Given the description of an element on the screen output the (x, y) to click on. 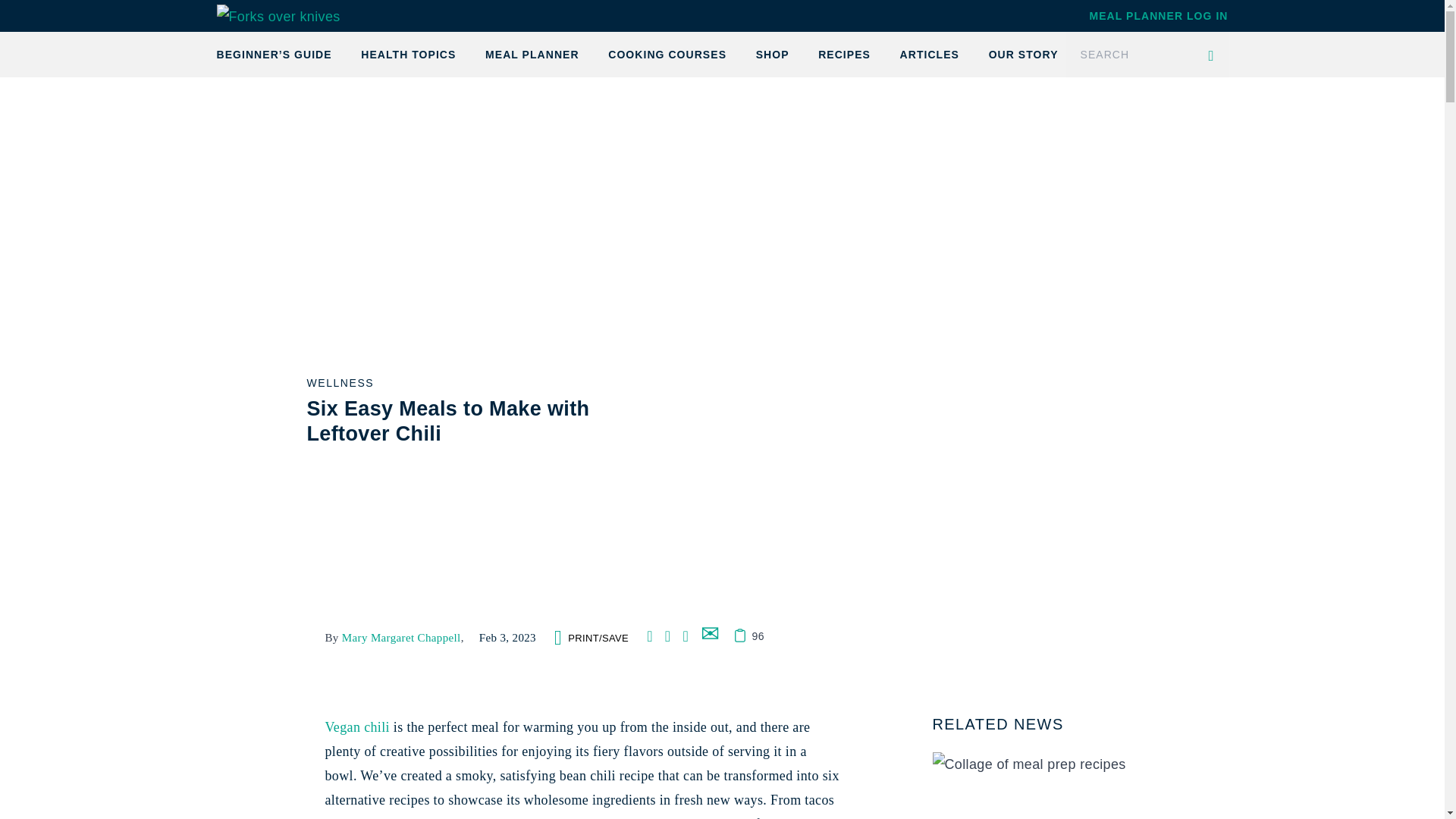
MEAL PLANNER LOG IN (1158, 15)
COOKING COURSES (667, 53)
WELLNESS (339, 381)
ARTICLES (929, 53)
MEAL PLANNER (531, 53)
Mary Margaret Chappell (401, 637)
Vegan chili (356, 726)
RECIPES (844, 53)
HEALTH TOPICS (408, 53)
OUR STORY (1023, 53)
